Given the description of an element on the screen output the (x, y) to click on. 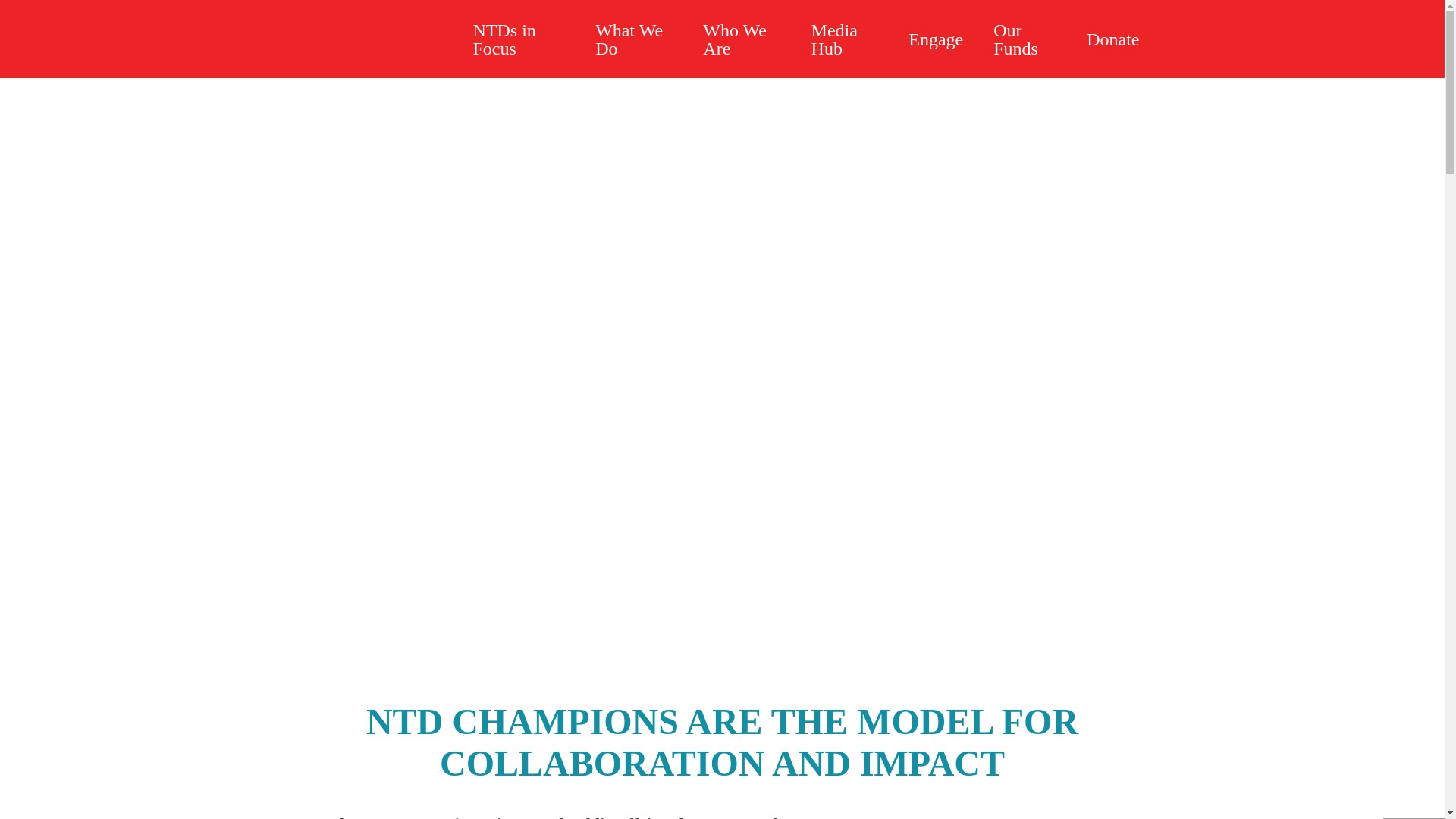
Our Funds (1024, 38)
What We Do (633, 38)
Media Hub (844, 38)
NTDs in Focus (519, 38)
The END Fund (373, 38)
Who We Are (740, 38)
Donate (1112, 38)
Engage (935, 38)
